Given the description of an element on the screen output the (x, y) to click on. 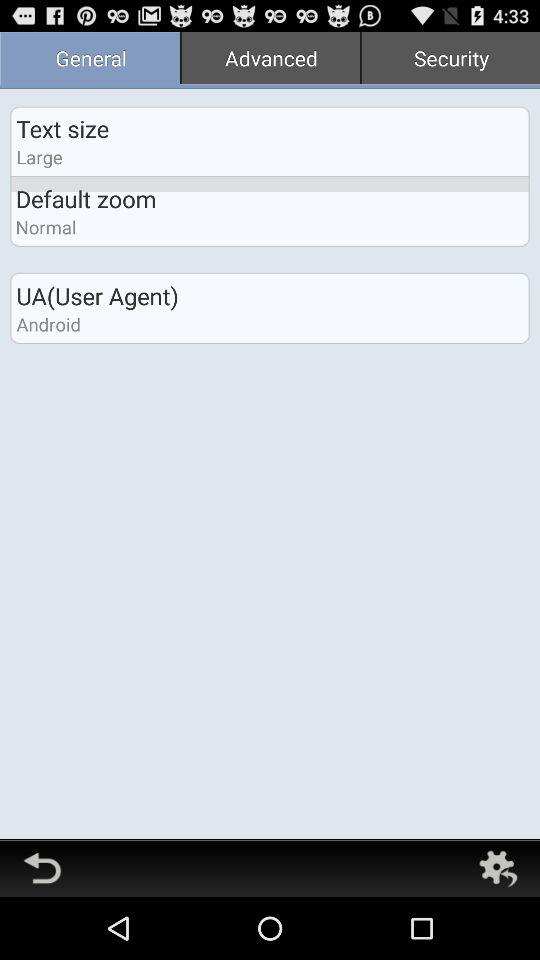
turn on icon above normal (85, 198)
